Given the description of an element on the screen output the (x, y) to click on. 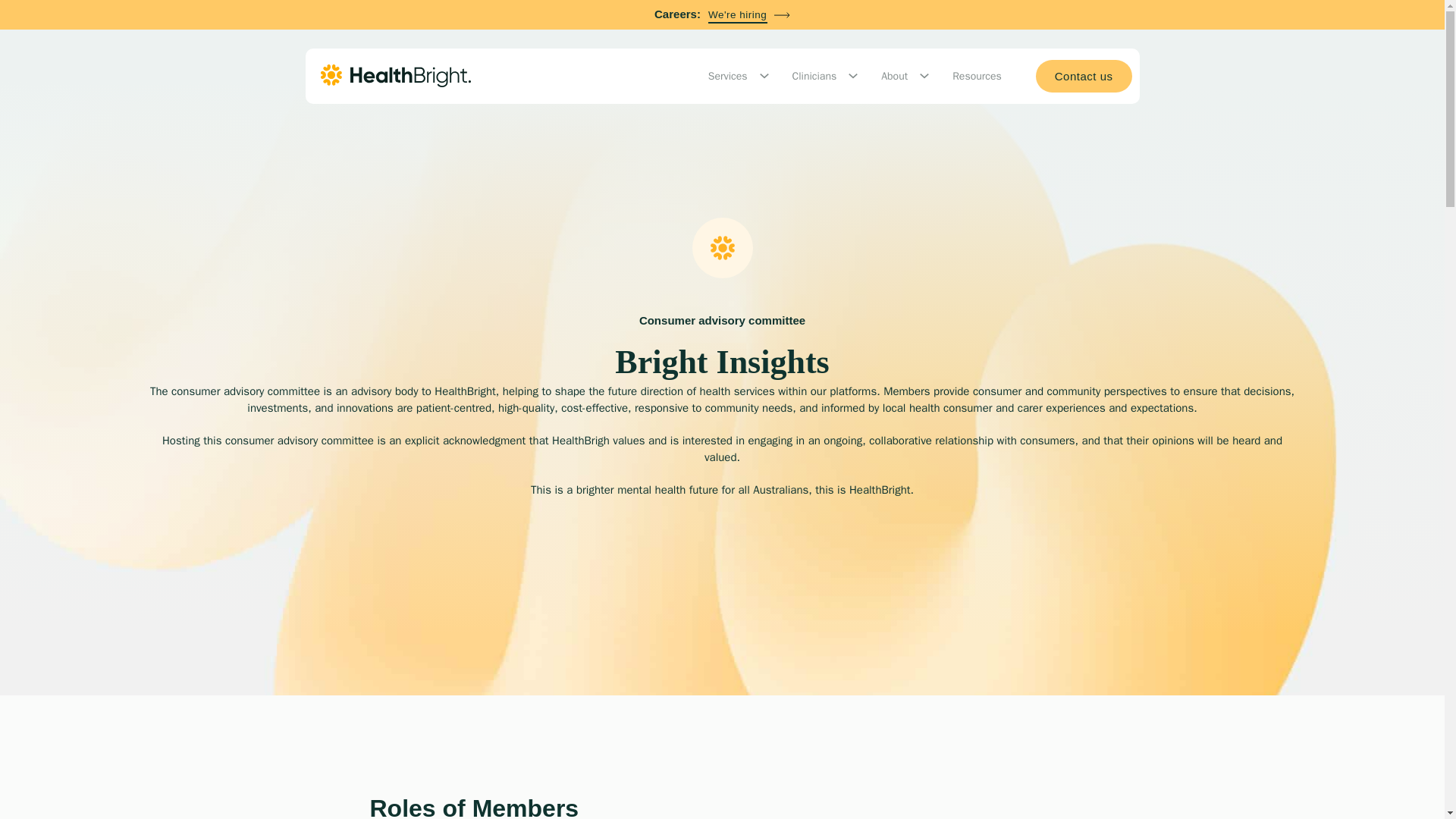
Clinicians (814, 76)
Services (727, 76)
About (893, 76)
Contact us (1083, 76)
We're hiring (748, 15)
Resources (976, 76)
